Given the description of an element on the screen output the (x, y) to click on. 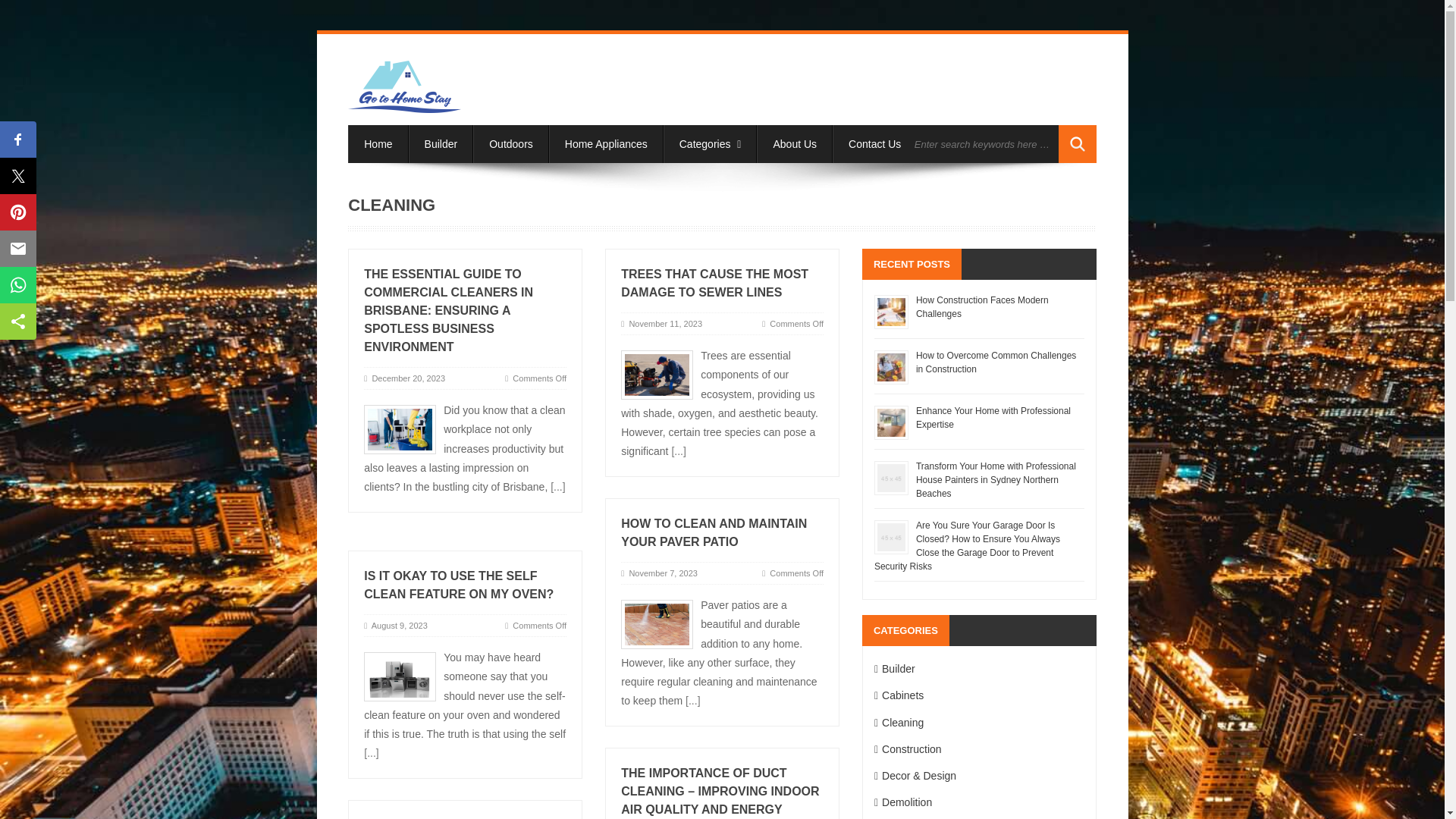
Categories (710, 143)
About Us (794, 143)
Contact Us (874, 143)
IS IT OKAY TO USE THE SELF CLEAN FEATURE ON MY OVEN? (458, 584)
HOW TO CLEAN AND MAINTAIN YOUR PAVER PATIO (713, 531)
Paver Patio (657, 624)
Sewer specialists (657, 374)
Outdoors (510, 143)
Advertise with Us (973, 143)
Commercial Cleaners in Brisbane (399, 429)
Builder (441, 143)
Appliance Repair Calgary Near Me (399, 676)
Home Appliances (605, 143)
TREES THAT CAUSE THE MOST DAMAGE TO SEWER LINES (714, 282)
